Given the description of an element on the screen output the (x, y) to click on. 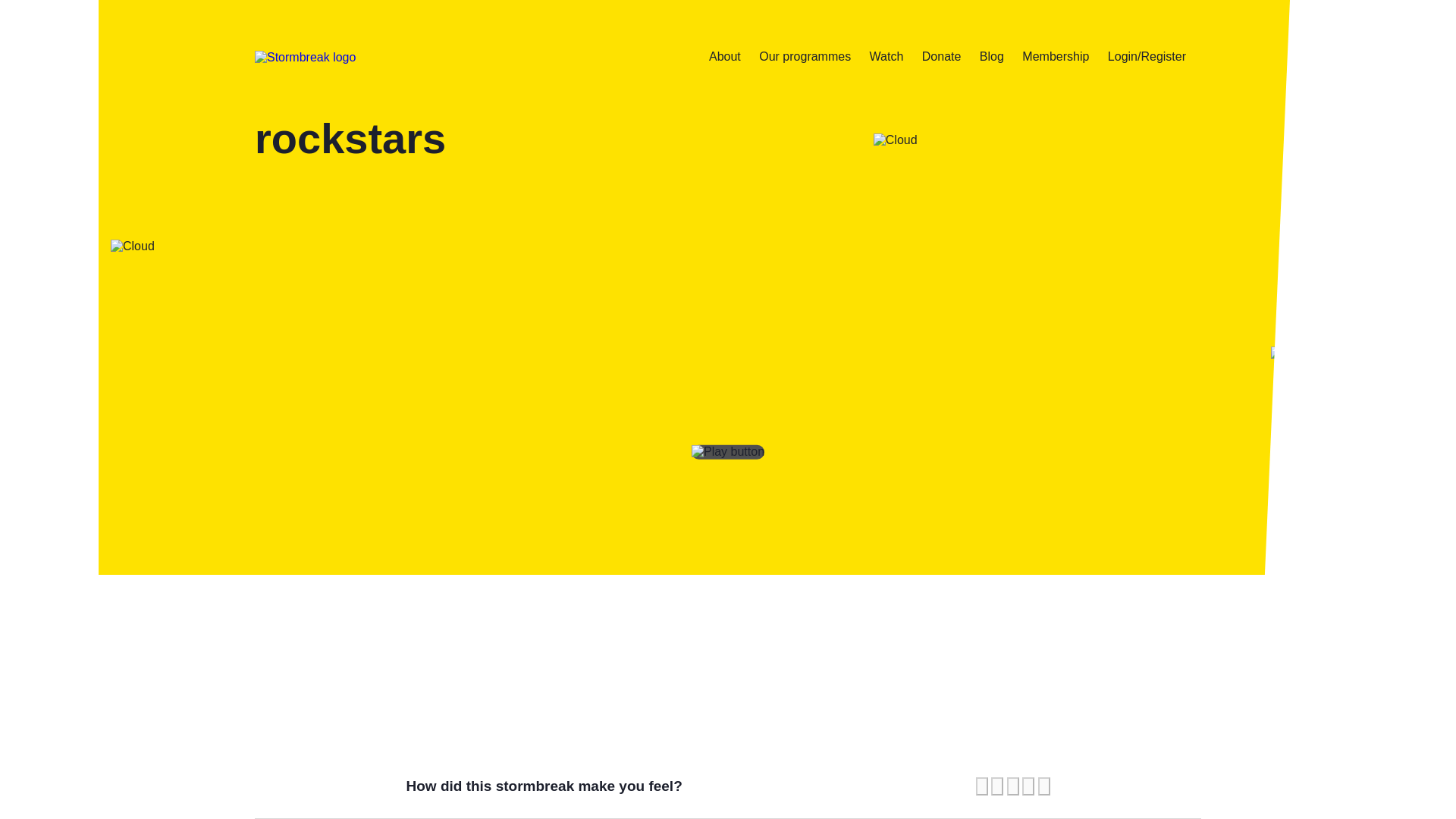
Our programmes (804, 56)
Donate (940, 56)
Blog (991, 56)
About (725, 56)
Watch (886, 56)
Membership (1055, 56)
